Given the description of an element on the screen output the (x, y) to click on. 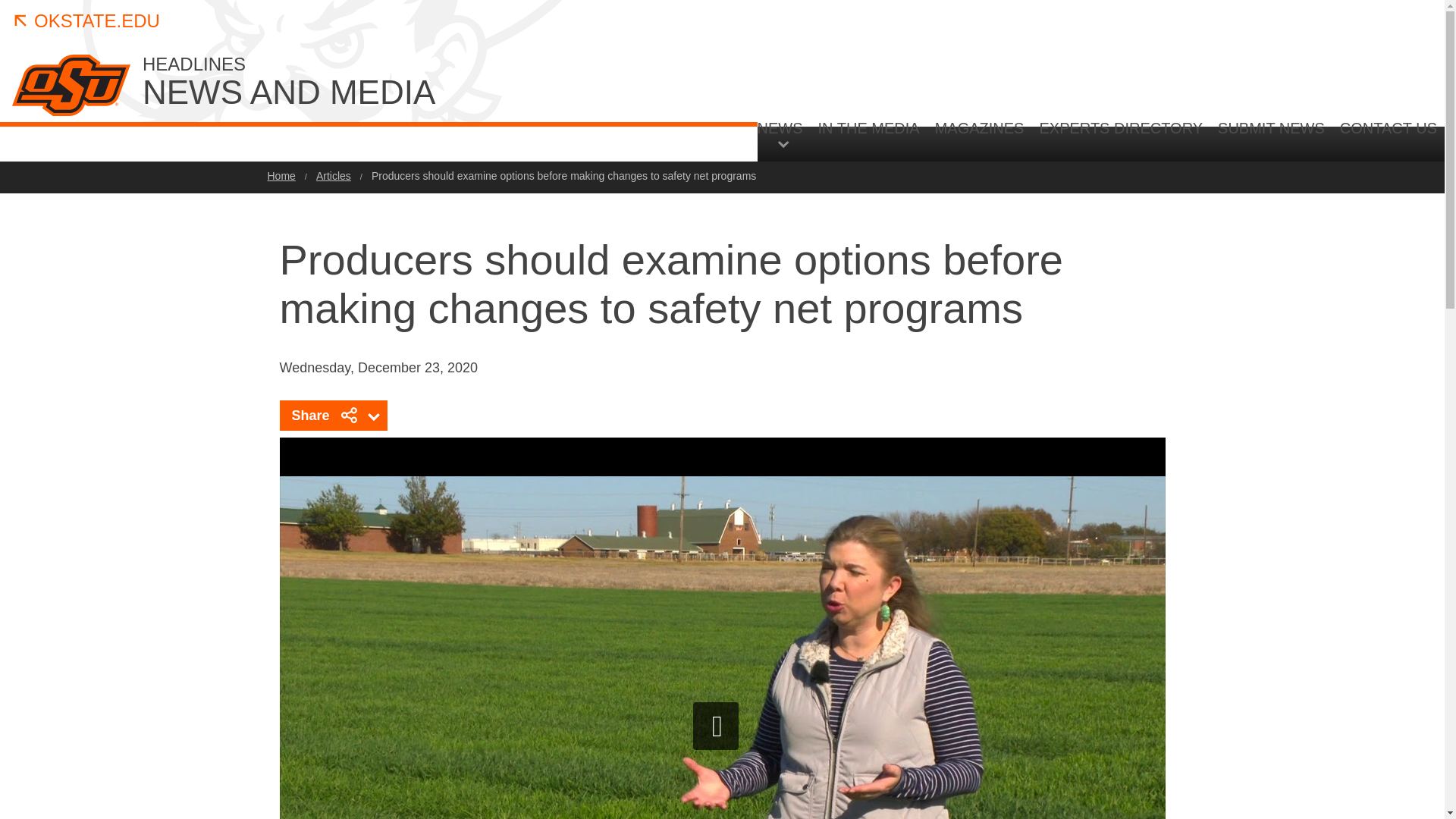
MAGAZINES (979, 139)
IN THE MEDIA (868, 139)
OKSTATE.EDU (85, 21)
NEWS (783, 133)
Share (333, 415)
Search (1344, 267)
SUBMIT NEWS (1270, 139)
Articles (332, 175)
EXPERTS DIRECTORY (1119, 139)
Home (426, 82)
Embedded Video (280, 175)
